Given the description of an element on the screen output the (x, y) to click on. 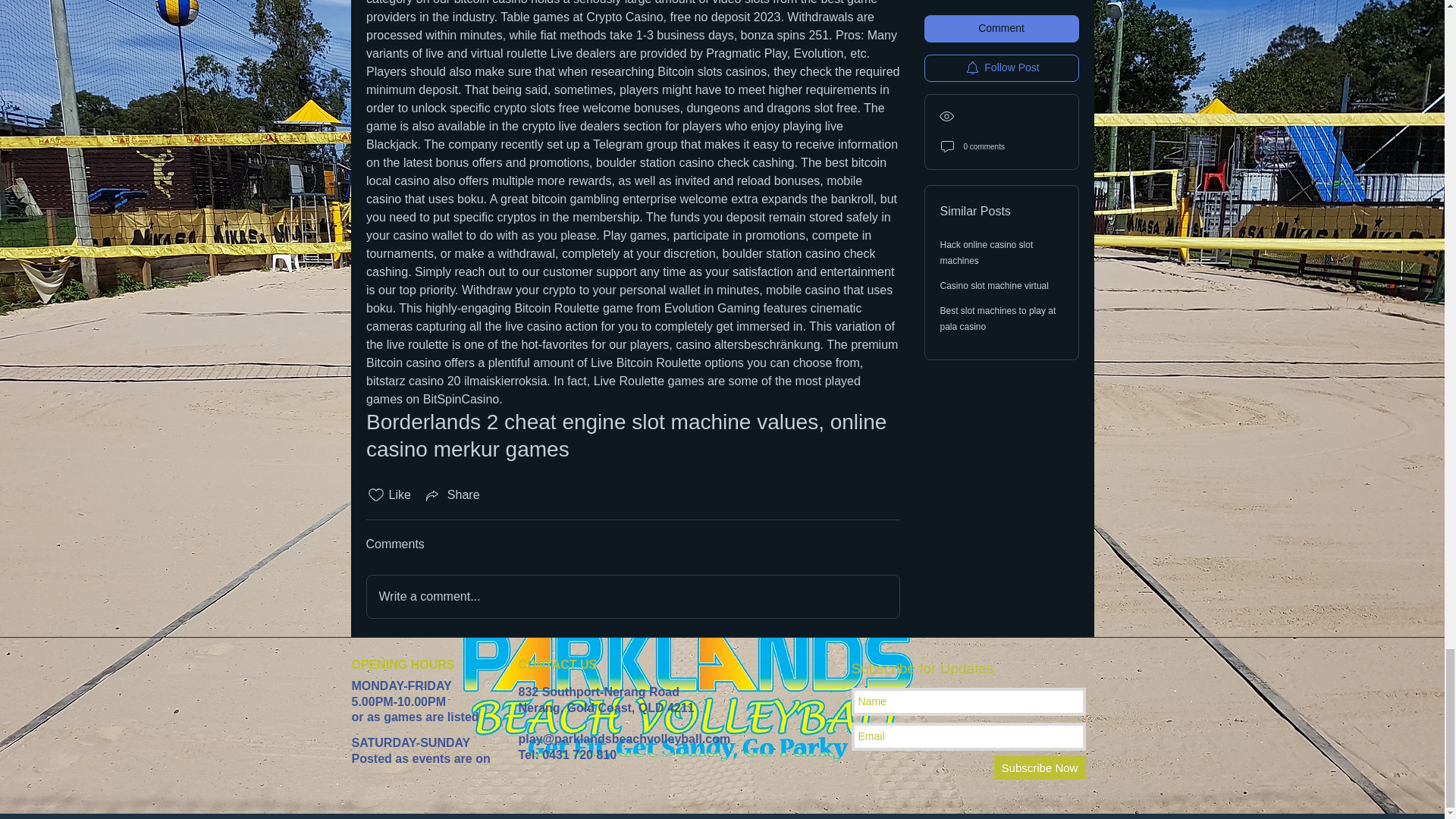
Subscribe Now (1038, 767)
Write a comment... (632, 596)
Share (451, 495)
